Given the description of an element on the screen output the (x, y) to click on. 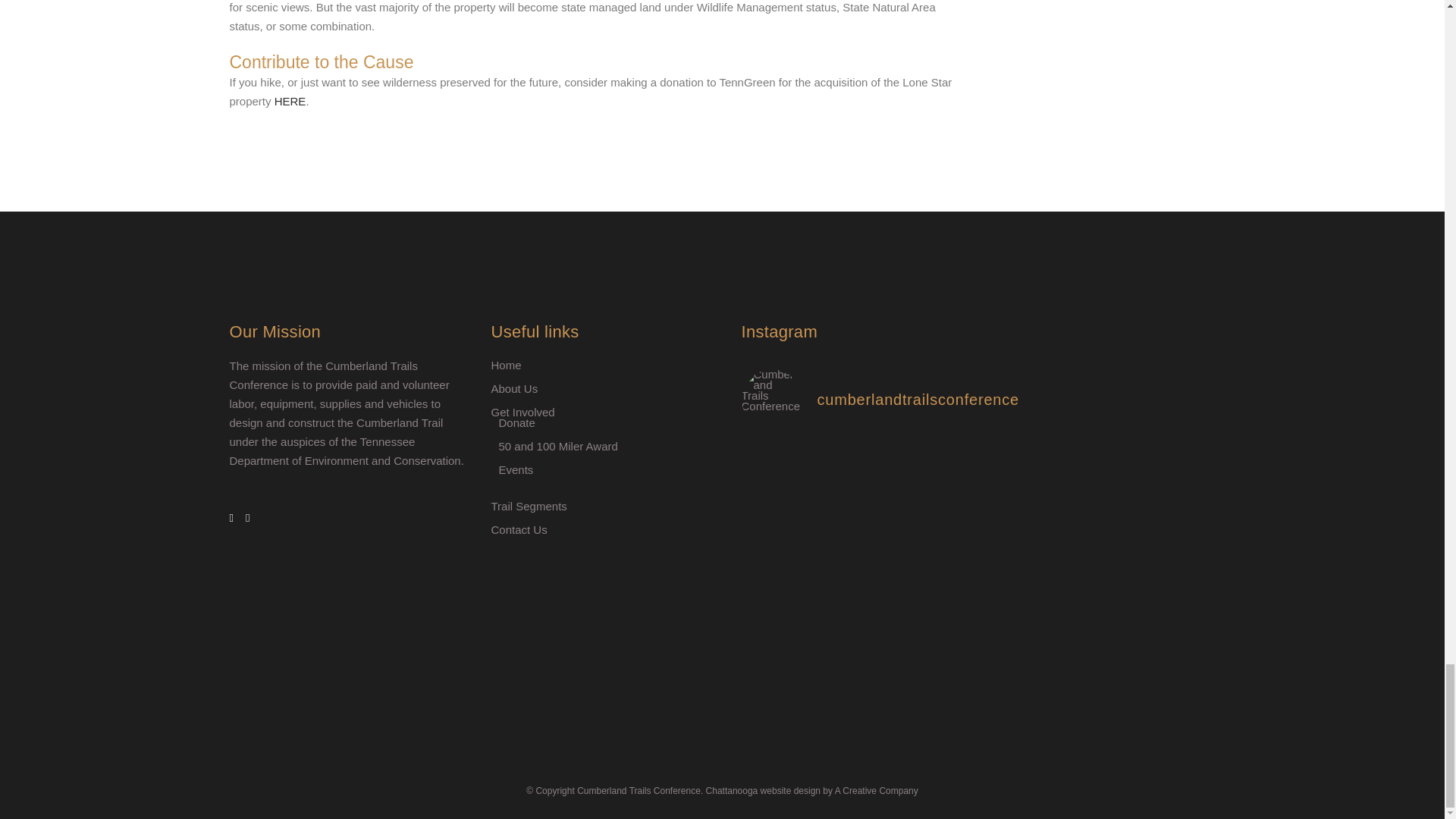
HERE (290, 101)
About Us (603, 388)
Home (603, 365)
